Given the description of an element on the screen output the (x, y) to click on. 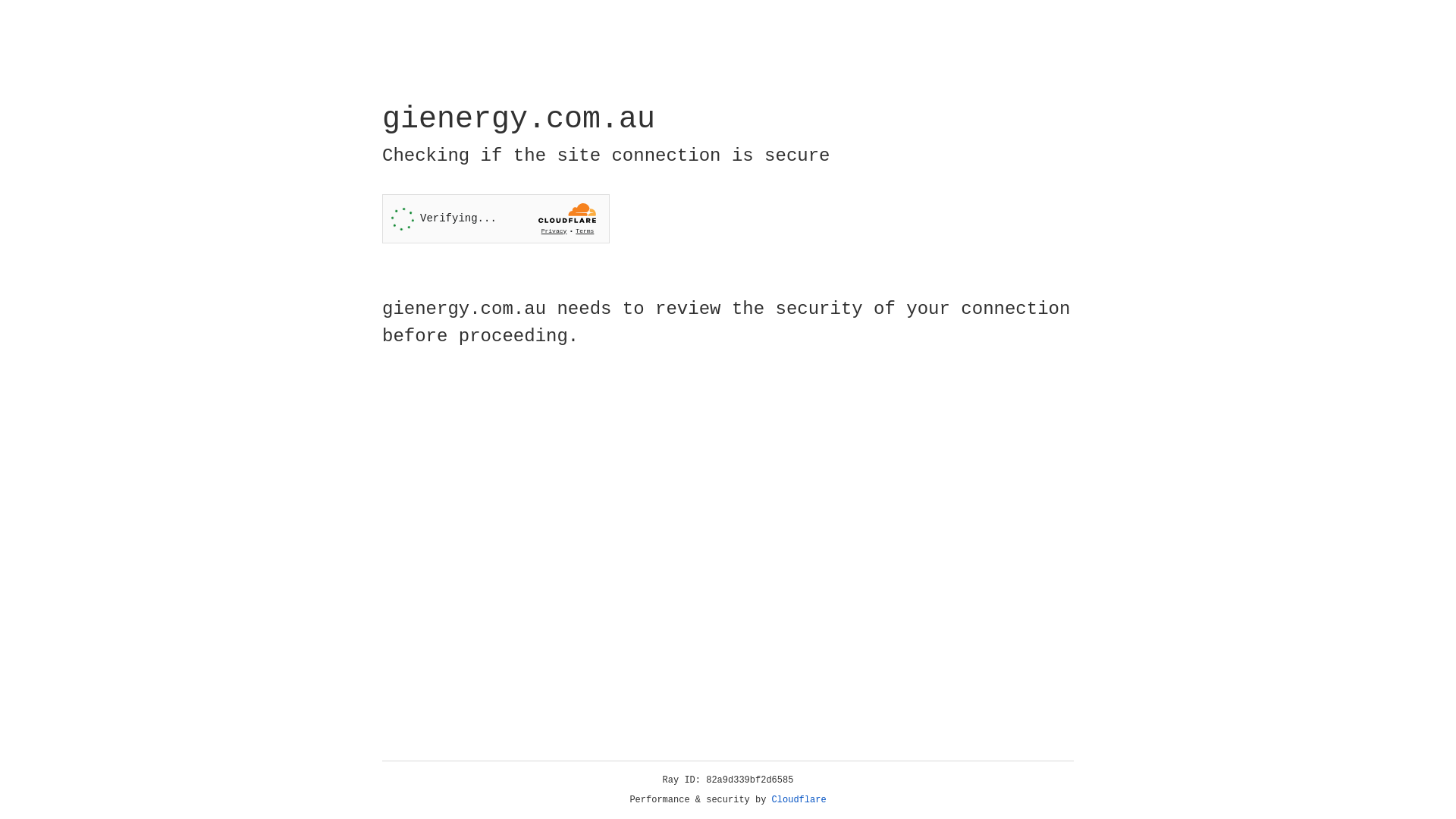
Widget containing a Cloudflare security challenge Element type: hover (495, 218)
Cloudflare Element type: text (798, 799)
